Given the description of an element on the screen output the (x, y) to click on. 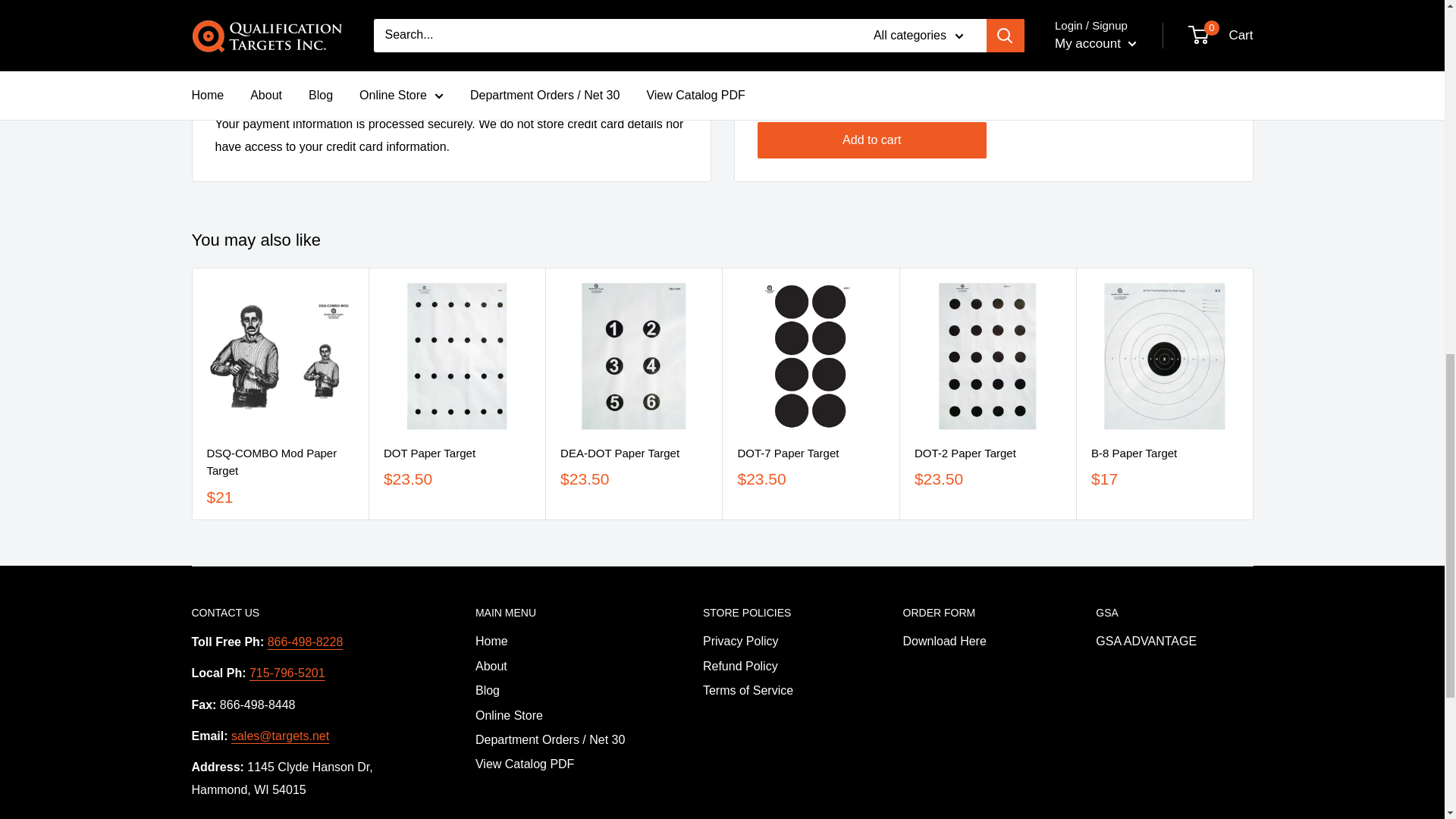
tel:866-498-8228 (305, 641)
tel:715-796-5201 (286, 672)
